Given the description of an element on the screen output the (x, y) to click on. 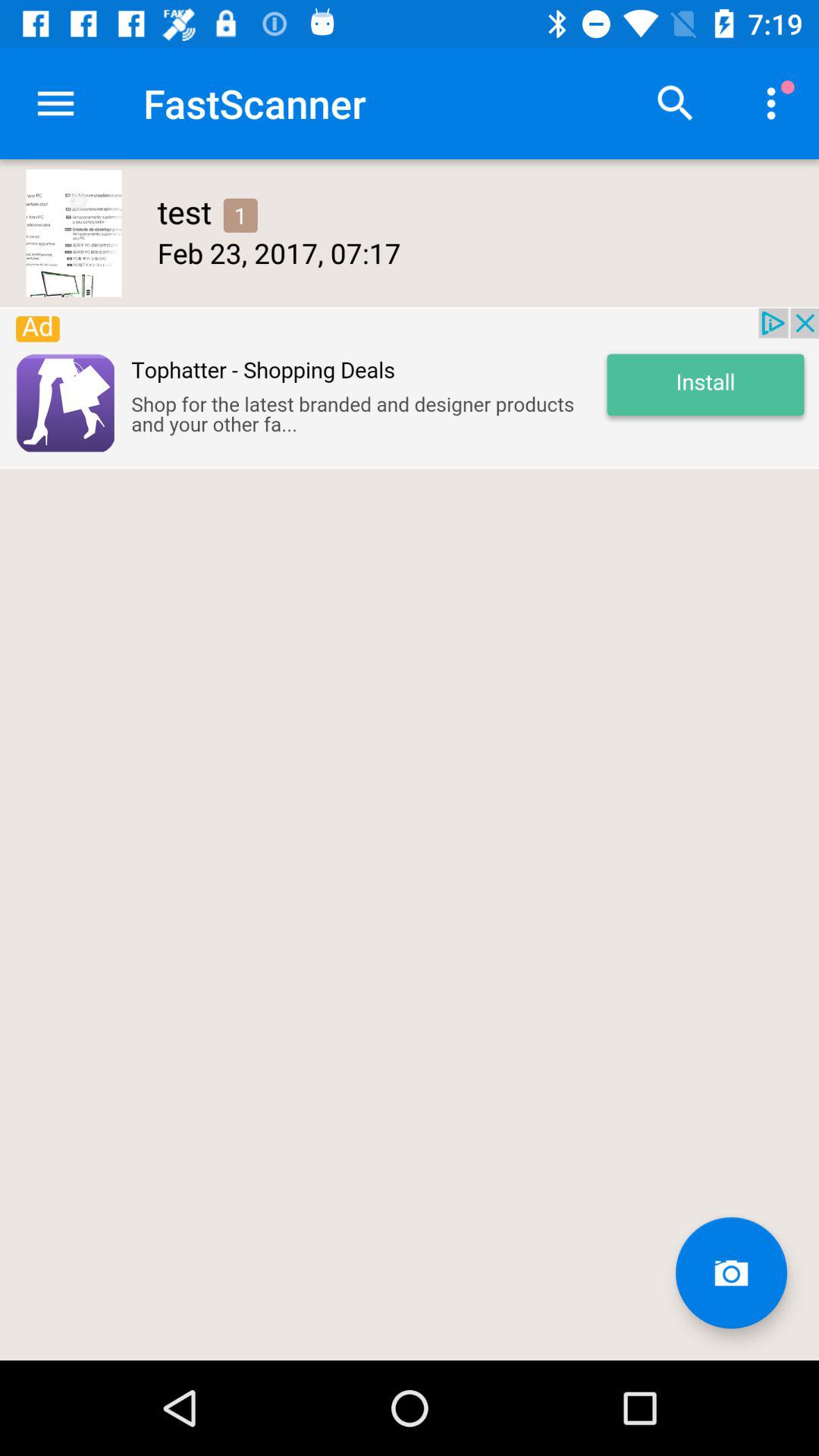
install app button (409, 387)
